Given the description of an element on the screen output the (x, y) to click on. 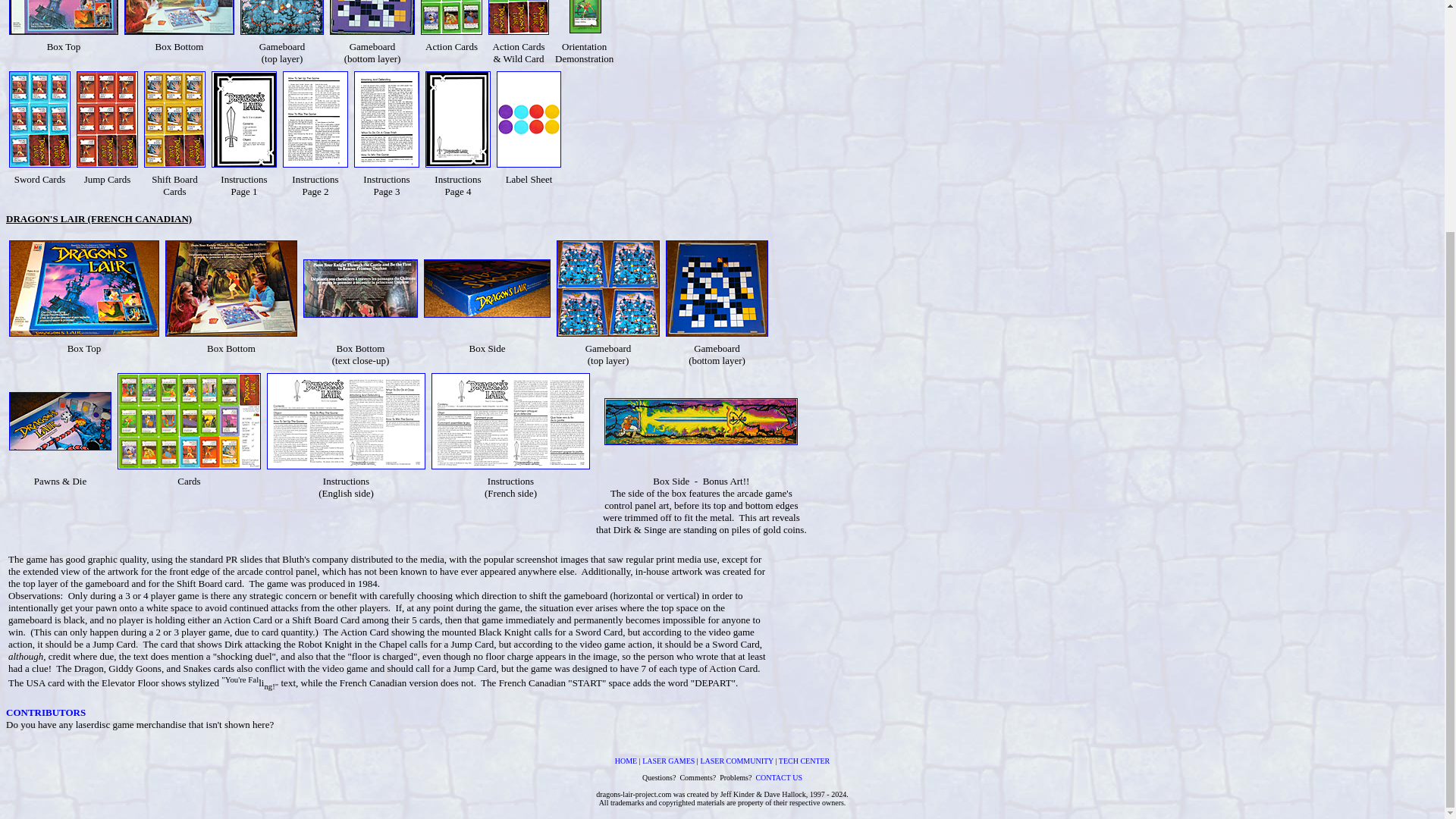
LASER COMMUNITY (736, 758)
CONTRIBUTORS (45, 712)
LASER GAMES (668, 758)
CONTACT US (778, 777)
TECH CENTER (803, 758)
HOME (625, 758)
